Given the description of an element on the screen output the (x, y) to click on. 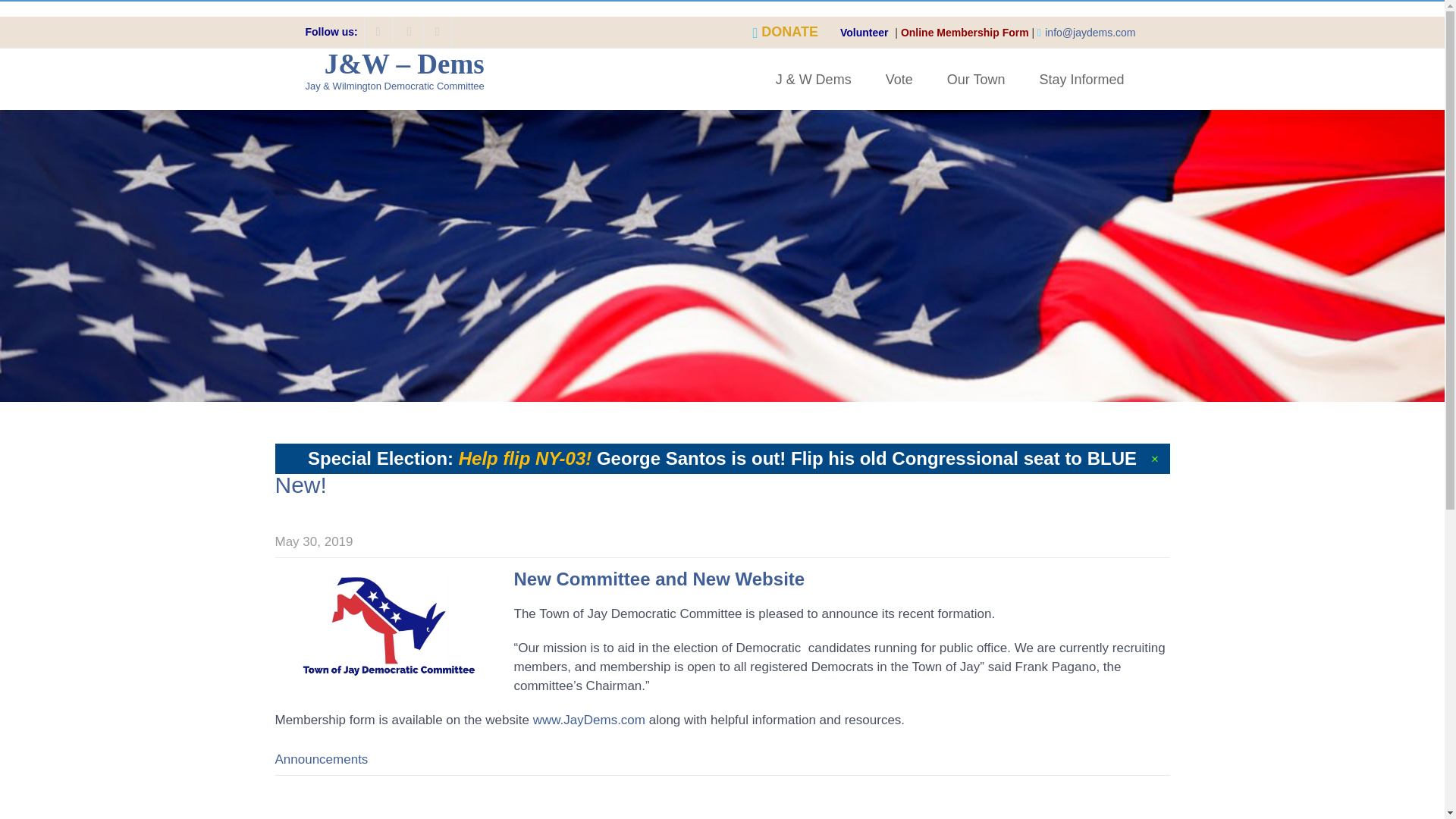
Volunteer (866, 32)
DONATE (799, 31)
Our Town (975, 78)
twitter (409, 31)
instagram (437, 31)
View all posts in Announcements (321, 759)
Online Membership Form (965, 32)
Stay Informed (1080, 78)
Announcements (321, 759)
www.JayDems.com (588, 719)
